Given the description of an element on the screen output the (x, y) to click on. 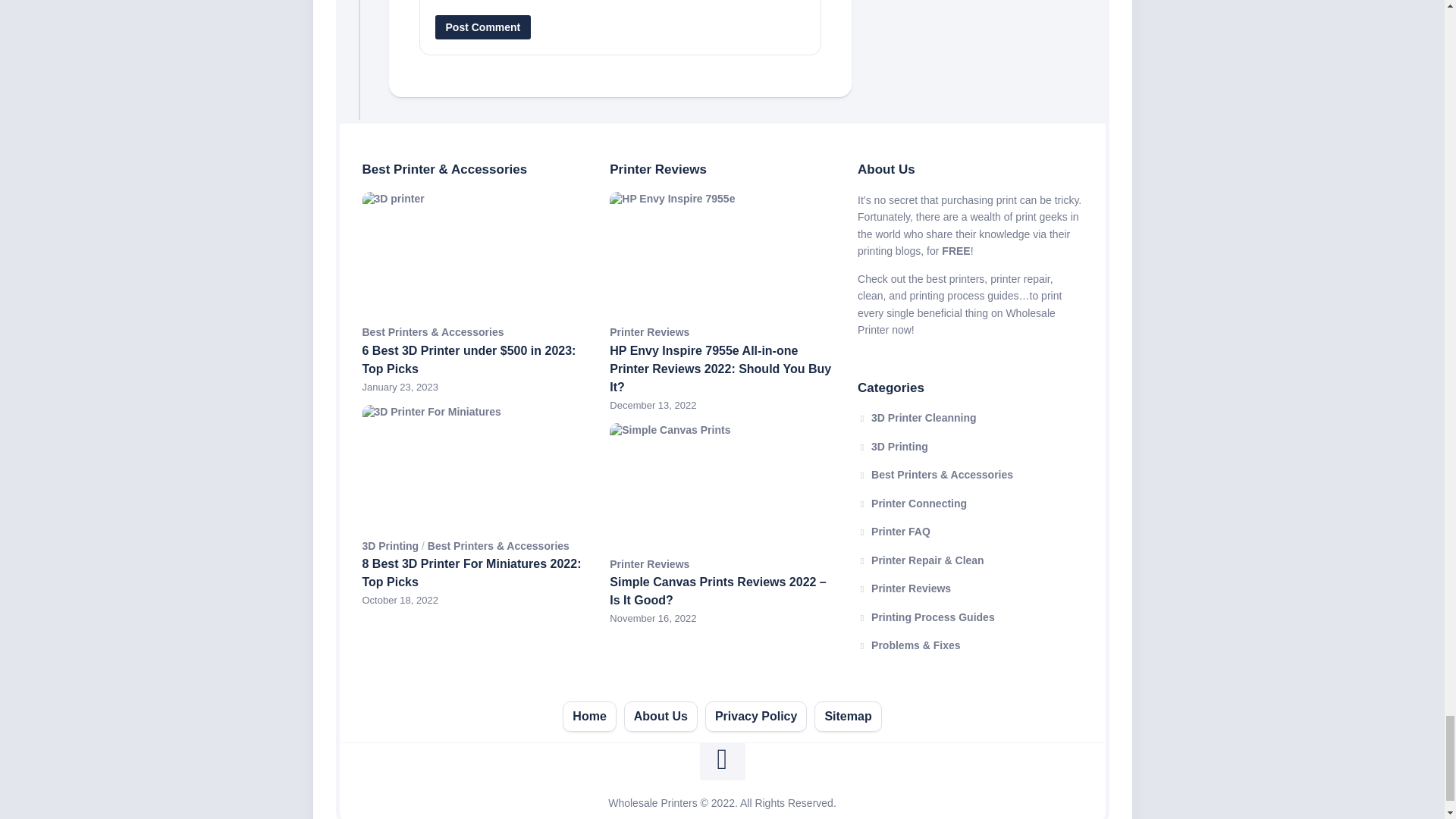
Post Comment (483, 27)
